Given the description of an element on the screen output the (x, y) to click on. 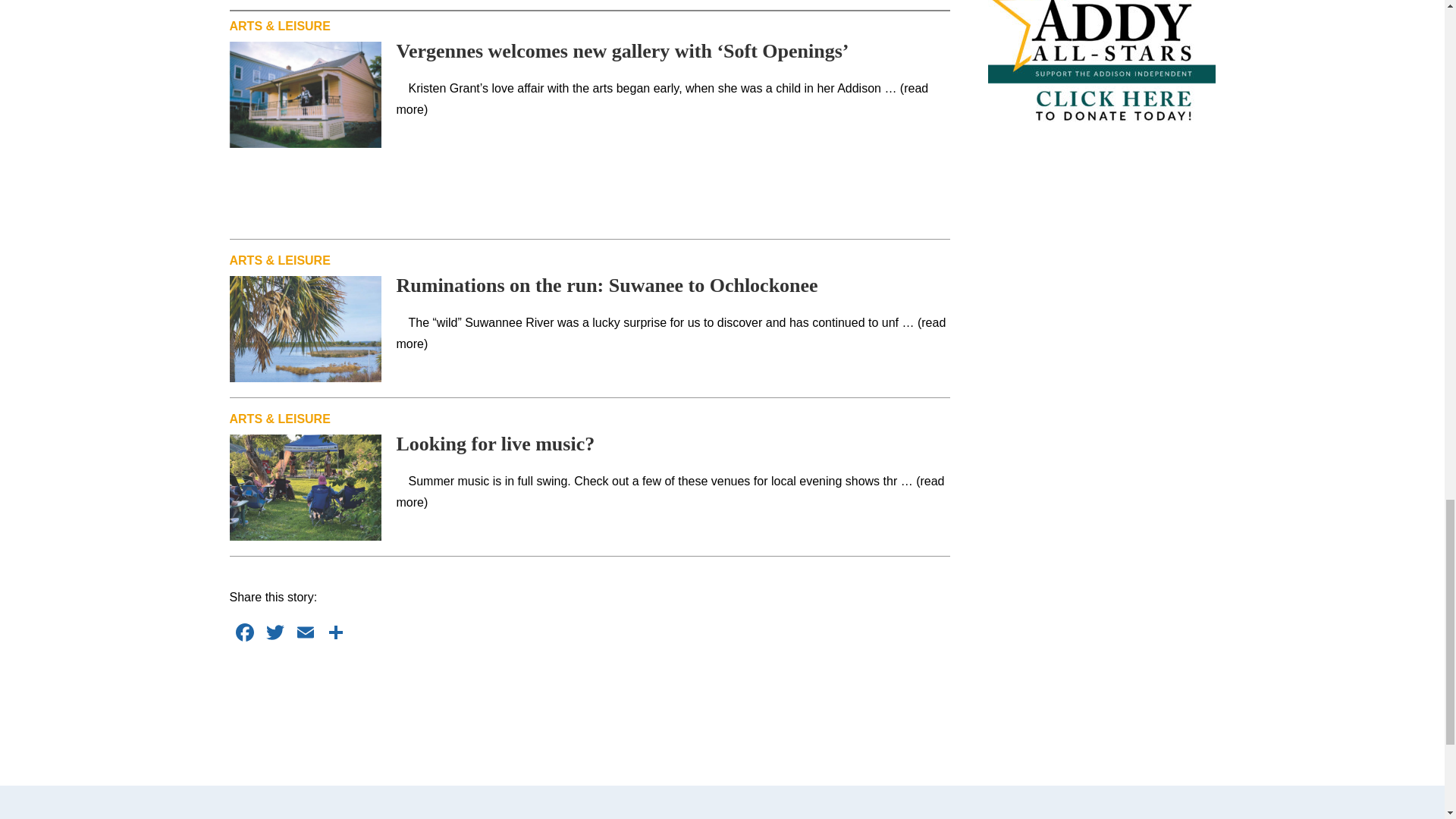
Facebook (243, 633)
3rd party ad content (590, 694)
Twitter (274, 633)
Email (304, 633)
3rd party ad content (590, 182)
